Given the description of an element on the screen output the (x, y) to click on. 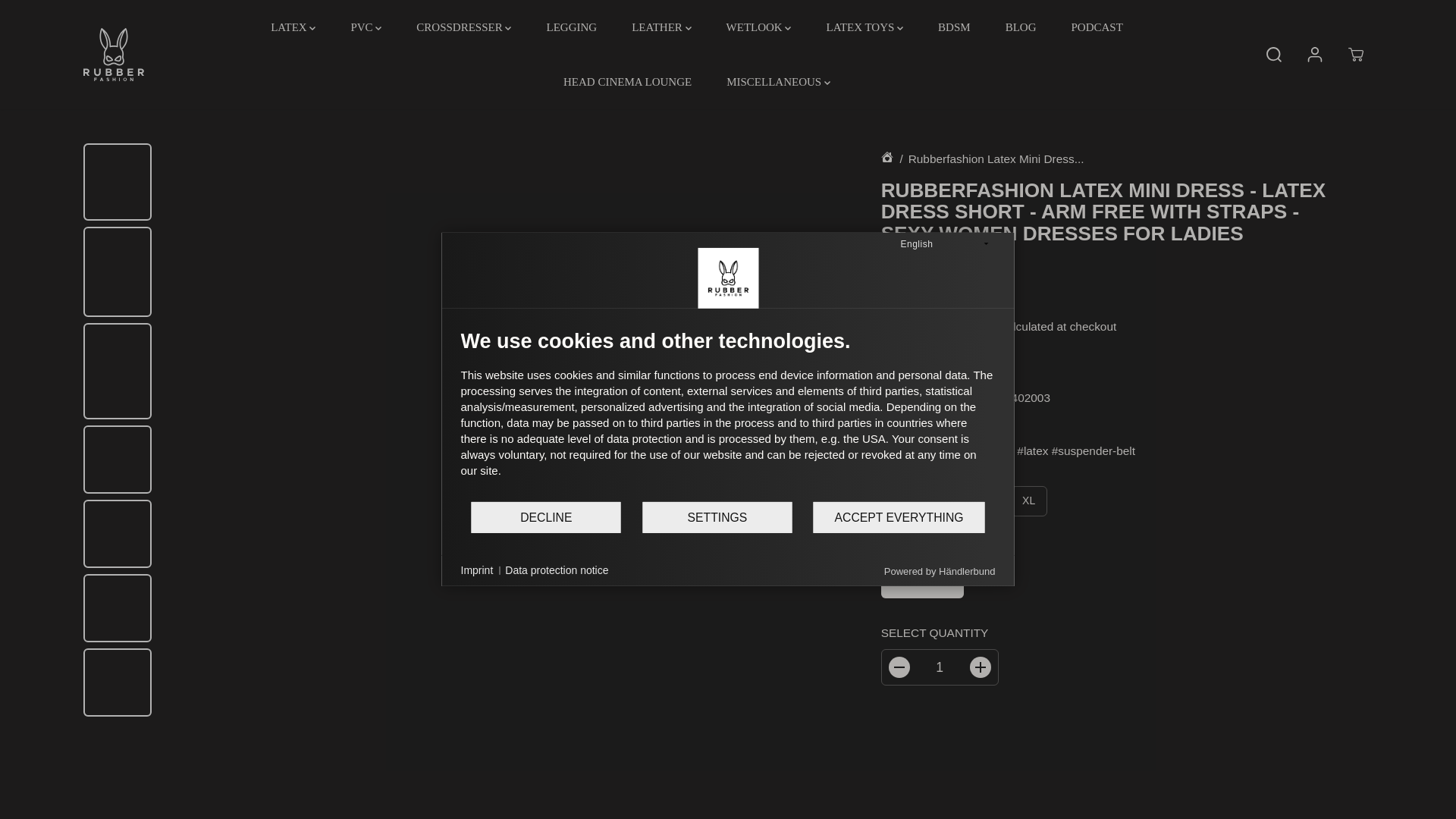
Cart (1356, 54)
SKIP TO CONTENT (60, 18)
L (986, 501)
Log in (1315, 54)
1 (939, 667)
black 0.4mm (921, 583)
XL (1028, 501)
S (898, 501)
XL (1028, 501)
M (942, 501)
